Given the description of an element on the screen output the (x, y) to click on. 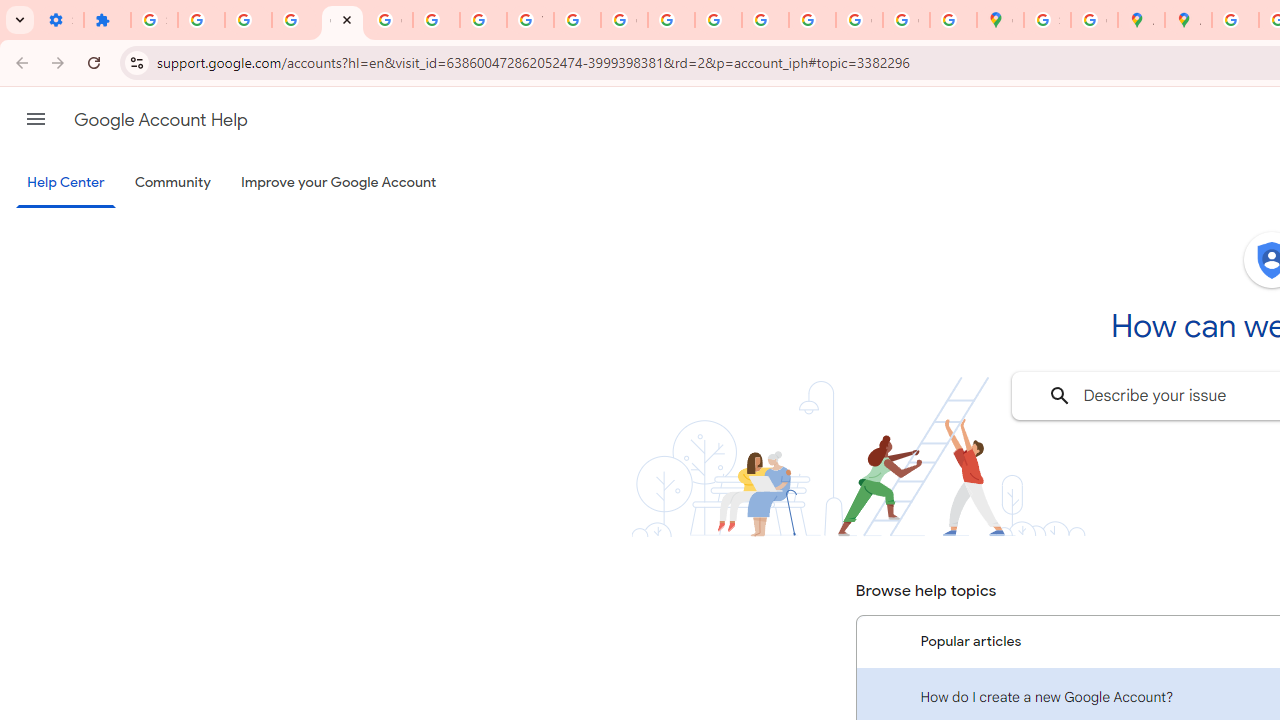
https://scholar.google.com/ (577, 20)
Policy Accountability and Transparency - Transparency Center (1235, 20)
Sign in - Google Accounts (1047, 20)
Improve your Google Account (339, 183)
Google Maps (999, 20)
